Given the description of an element on the screen output the (x, y) to click on. 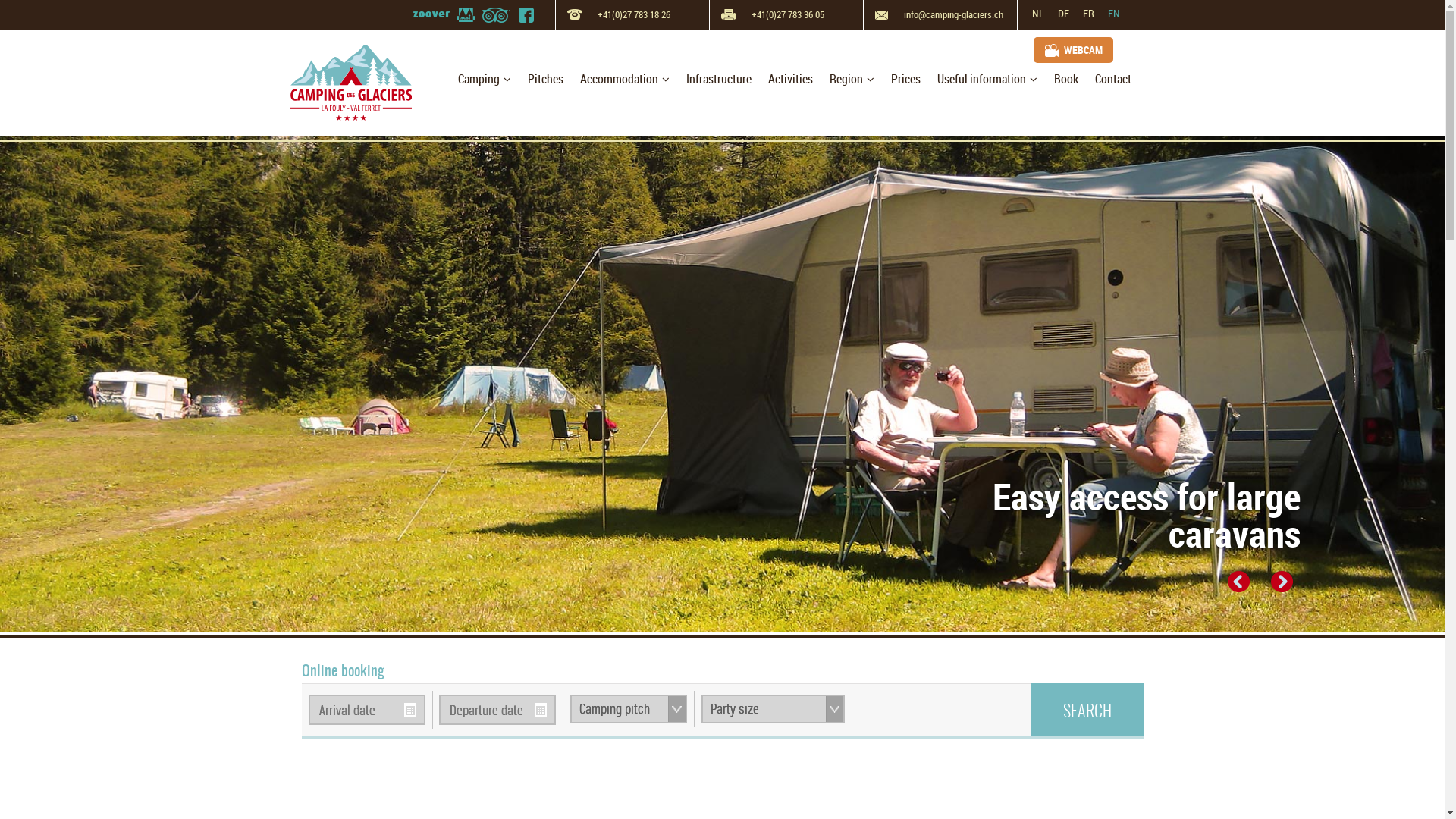
Useful information Element type: text (986, 79)
Contact Element type: text (1112, 79)
NL Element type: text (1038, 13)
Activities Element type: text (790, 79)
DE Element type: text (1063, 13)
Prices Element type: text (905, 79)
EN Element type: text (1113, 13)
info@camping-glaciers.ch Element type: text (940, 14)
Region Element type: text (850, 79)
FR Element type: text (1089, 13)
Accommodation Element type: text (624, 79)
Camping Element type: text (483, 79)
Book Element type: text (1064, 79)
Pitches Element type: text (544, 79)
WEBCAM Element type: text (1073, 49)
Infrastructure Element type: text (718, 79)
